Given the description of an element on the screen output the (x, y) to click on. 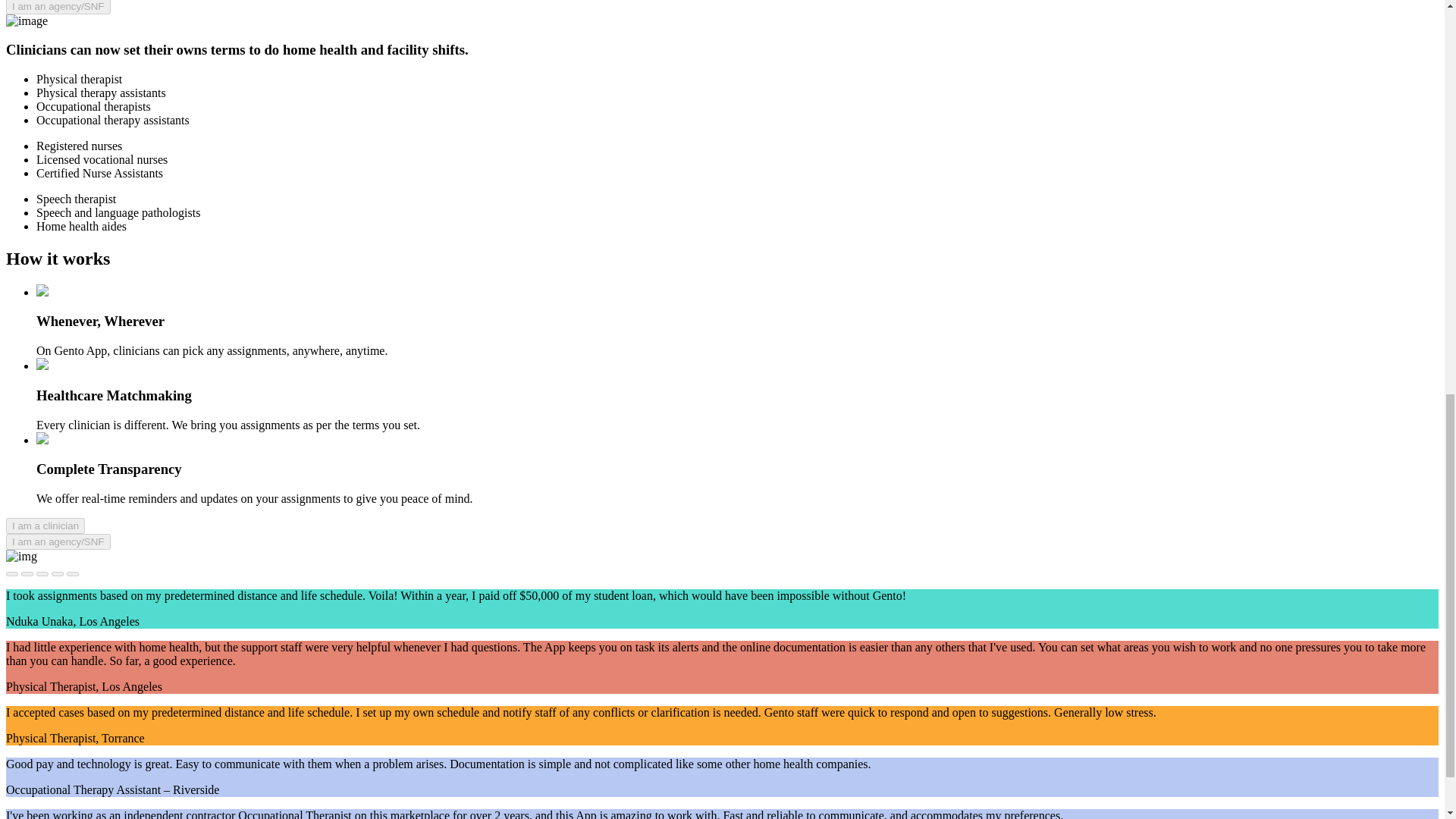
I am a clinician (44, 525)
I am a clinician (44, 524)
